Given the description of an element on the screen output the (x, y) to click on. 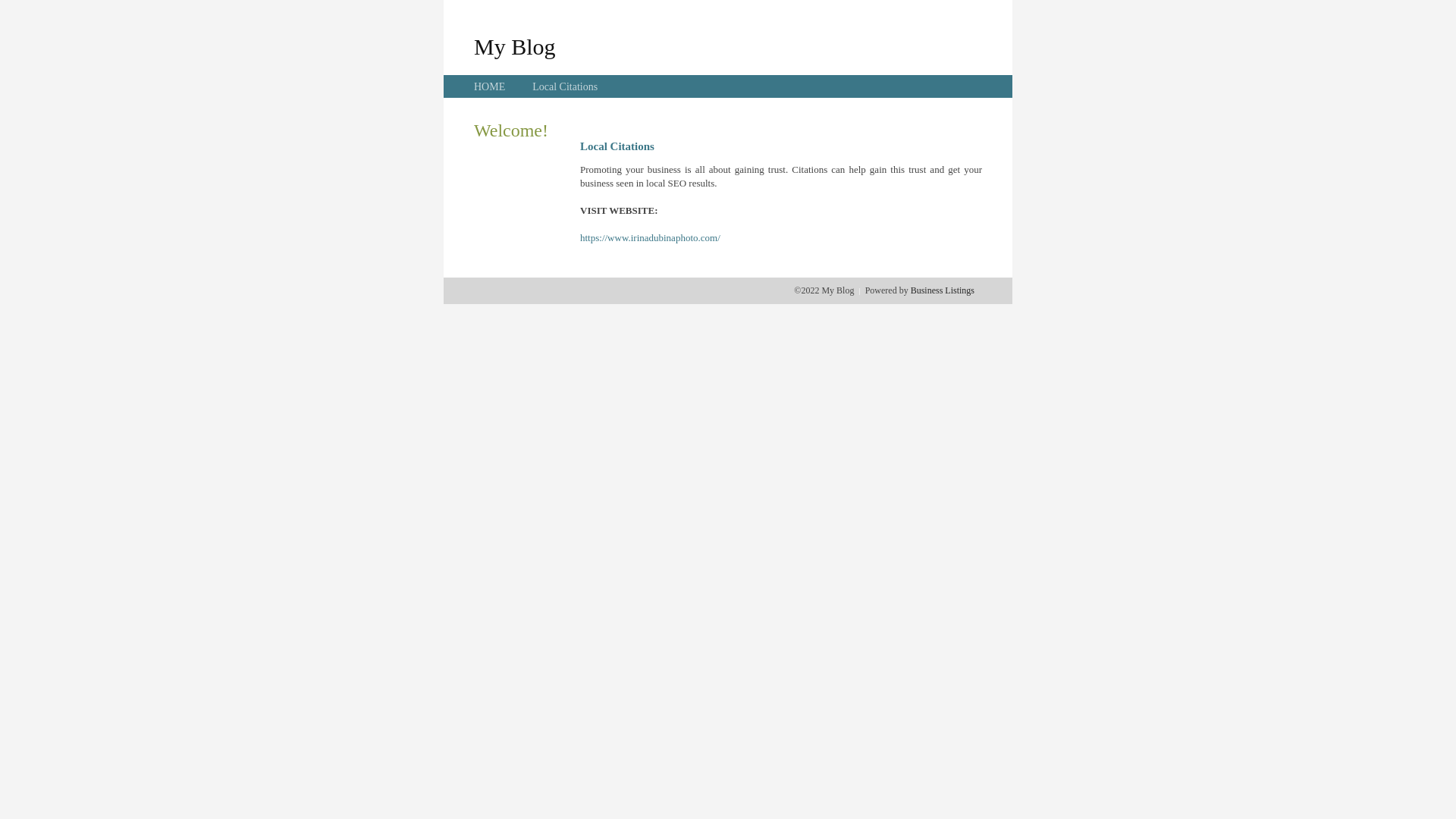
Local Citations Element type: text (564, 86)
Business Listings Element type: text (942, 290)
My Blog Element type: text (514, 46)
https://www.irinadubinaphoto.com/ Element type: text (650, 237)
HOME Element type: text (489, 86)
